Given the description of an element on the screen output the (x, y) to click on. 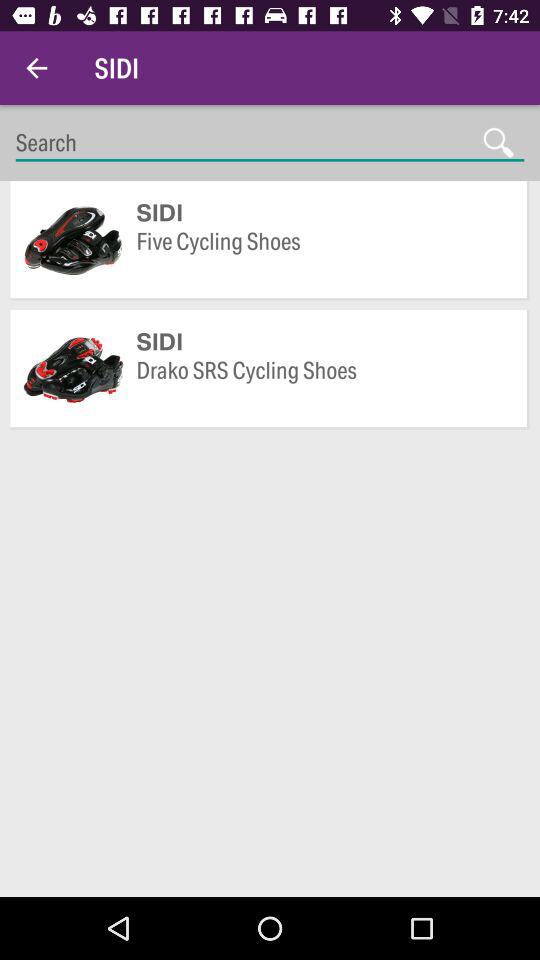
select the item next to the sidi item (36, 68)
